Given the description of an element on the screen output the (x, y) to click on. 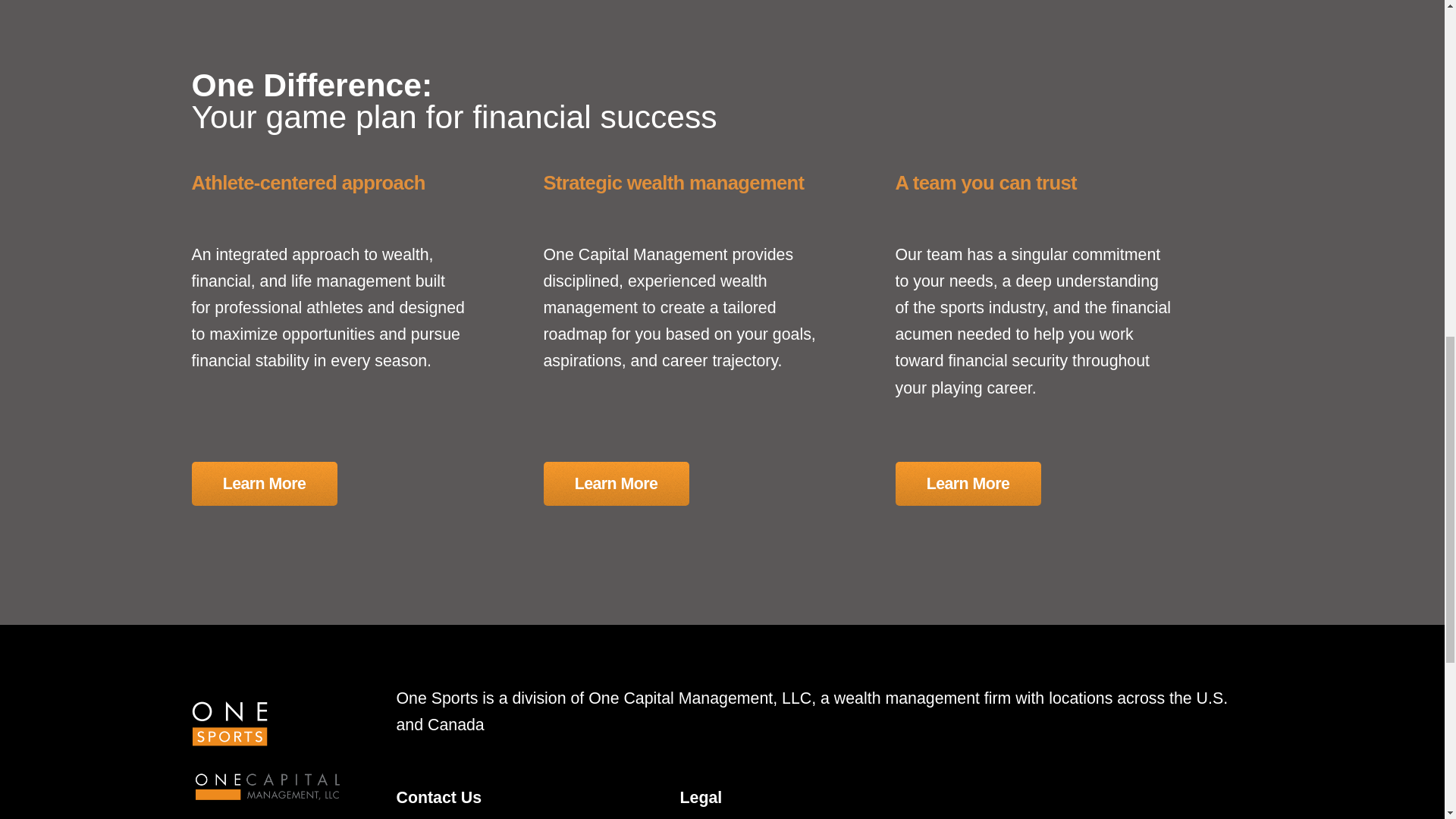
Learn More (263, 483)
Learn More (968, 483)
Learn More (615, 483)
